Given the description of an element on the screen output the (x, y) to click on. 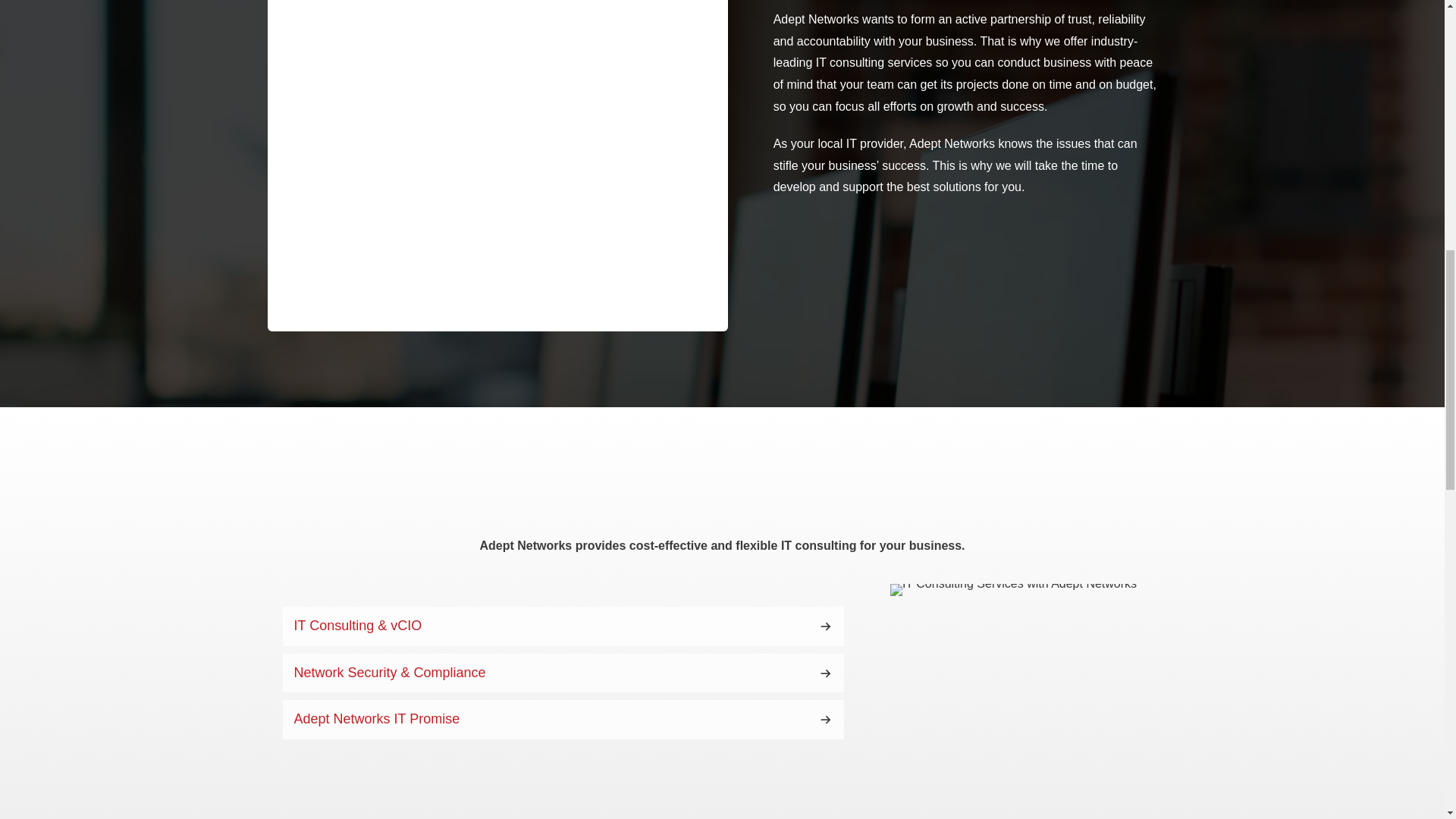
adept-networks-it-consulting (1013, 589)
